Given the description of an element on the screen output the (x, y) to click on. 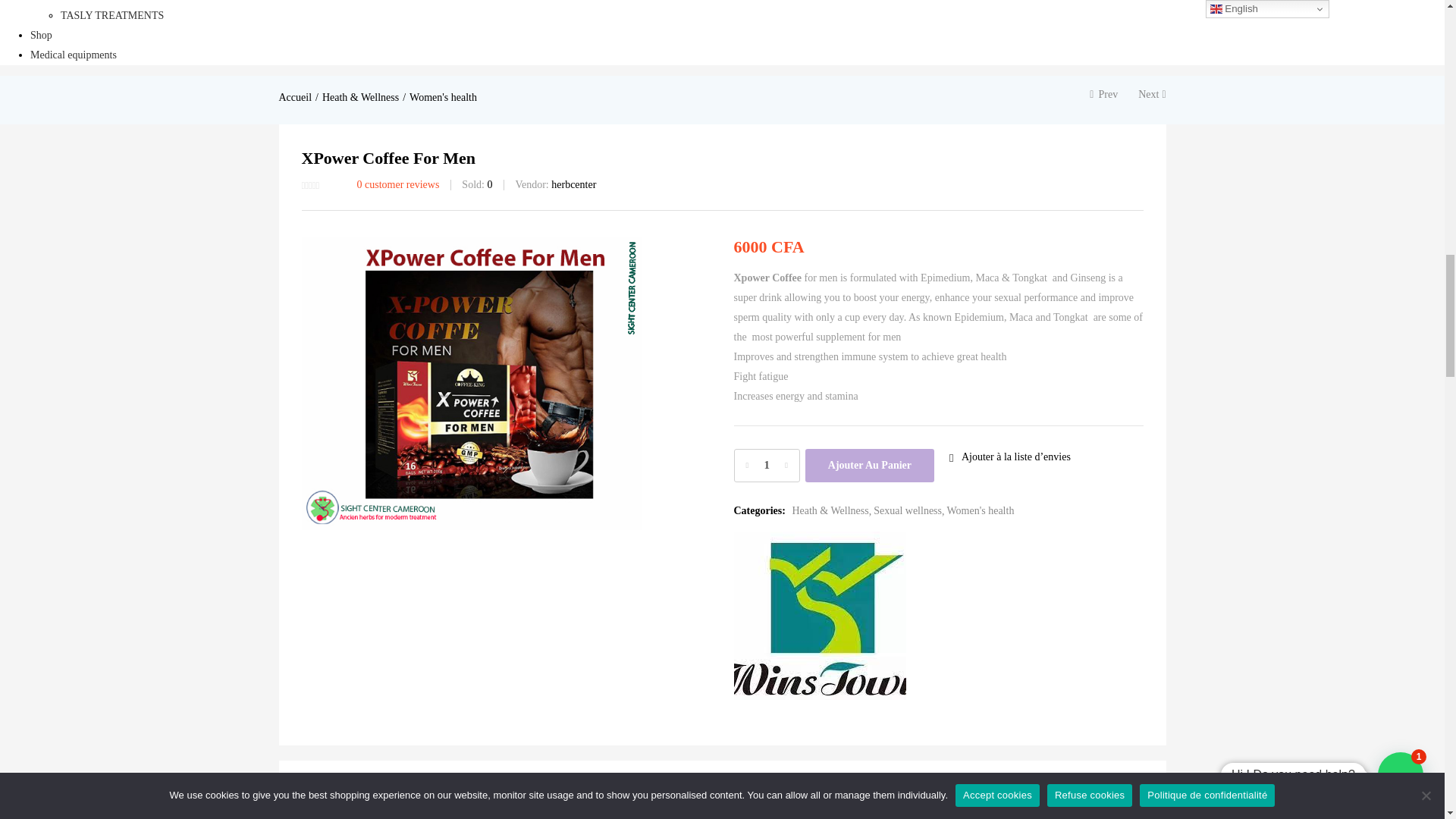
1 (766, 465)
